Given the description of an element on the screen output the (x, y) to click on. 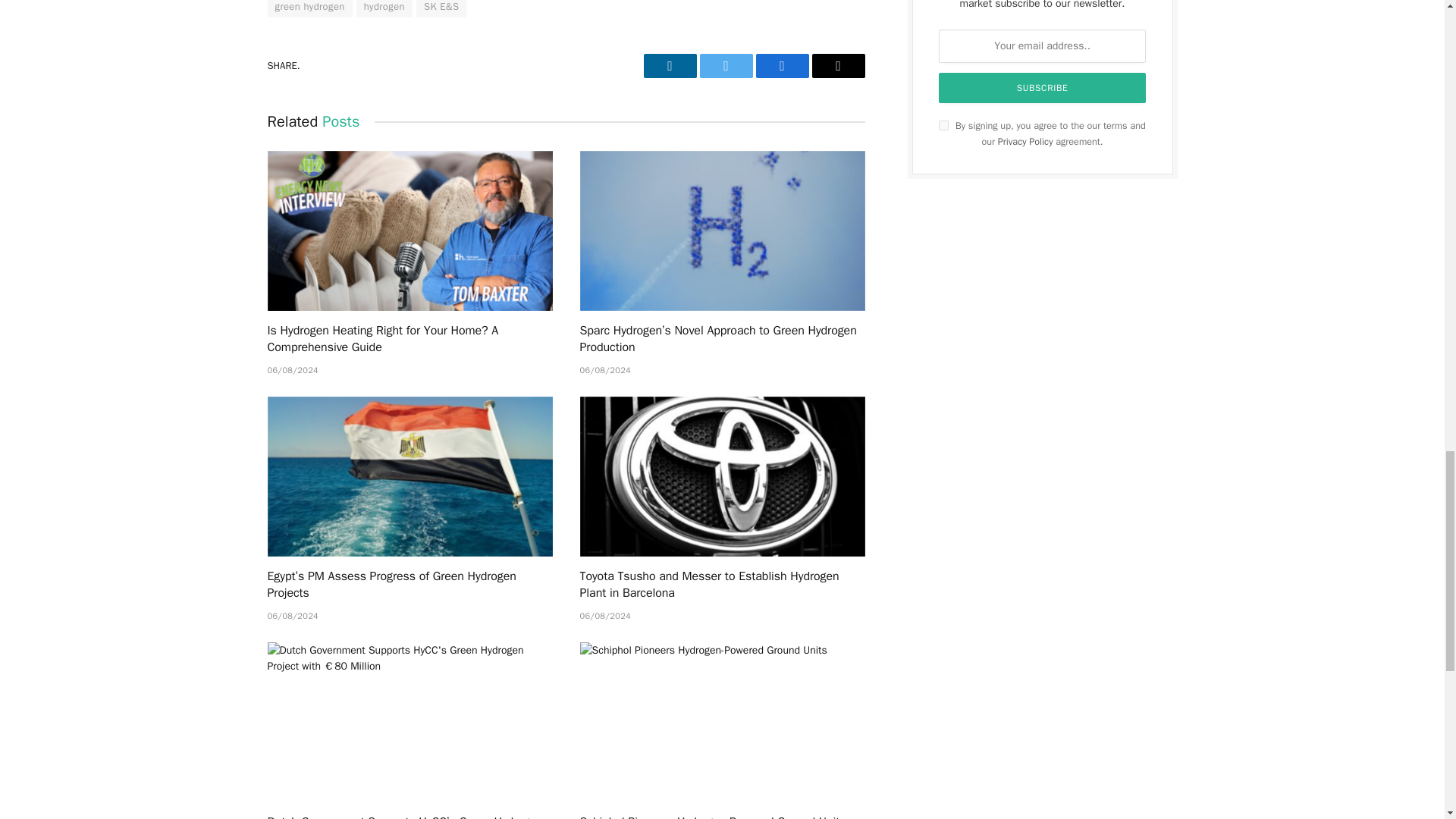
Subscribe (1043, 87)
on (944, 125)
